Given the description of an element on the screen output the (x, y) to click on. 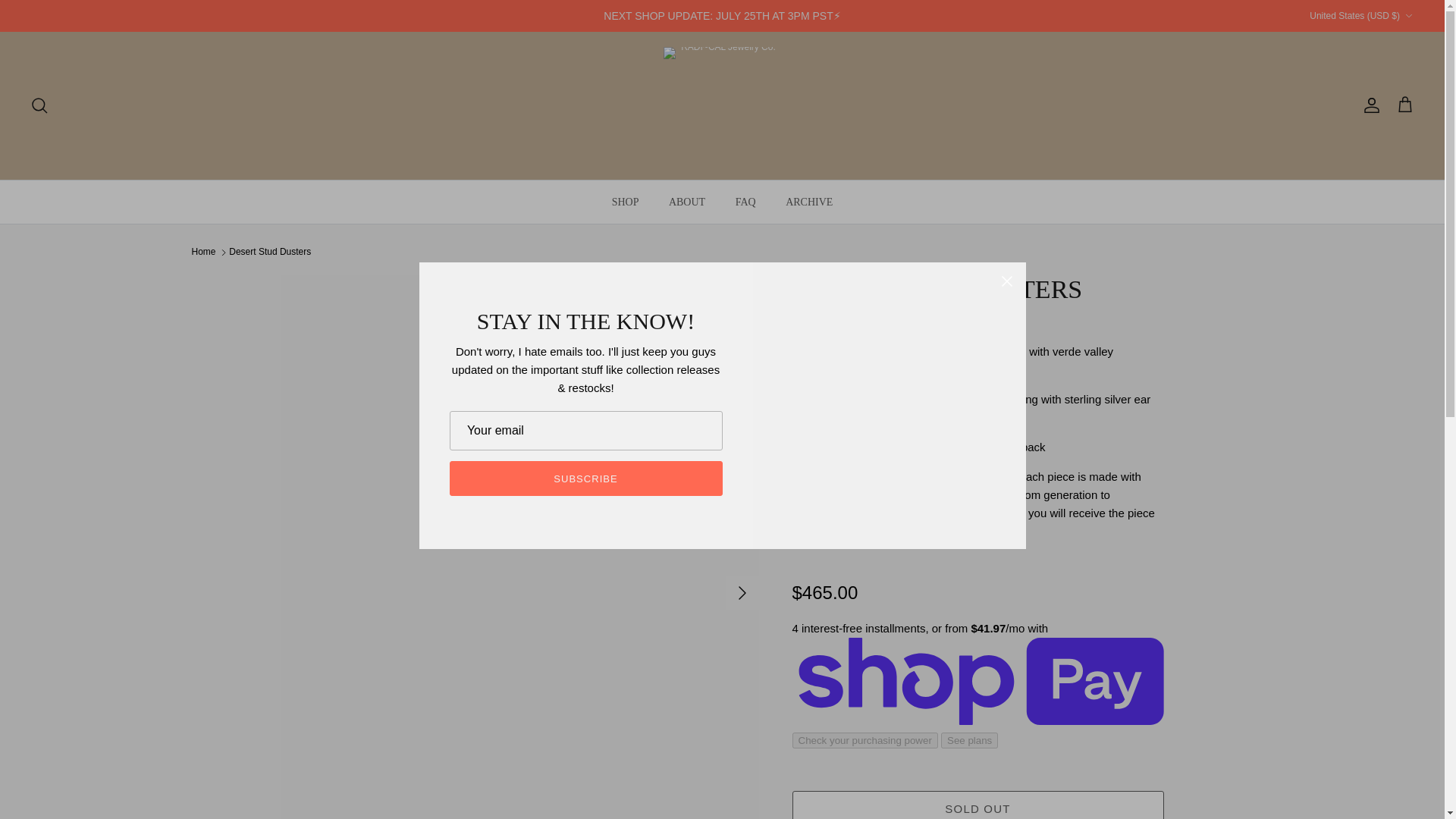
RIGHT (741, 592)
Down (1408, 15)
